Given the description of an element on the screen output the (x, y) to click on. 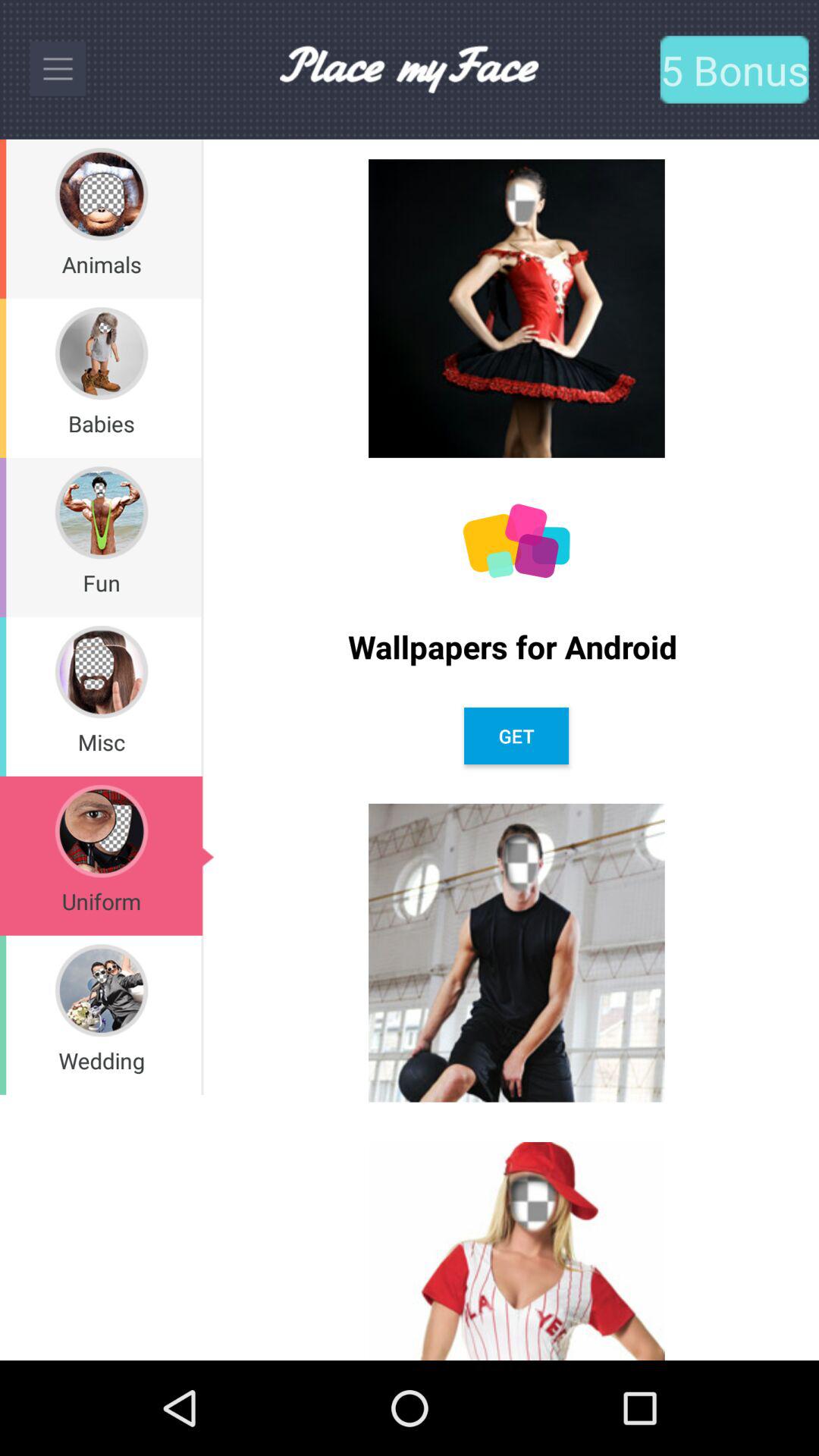
press get (516, 735)
